Given the description of an element on the screen output the (x, y) to click on. 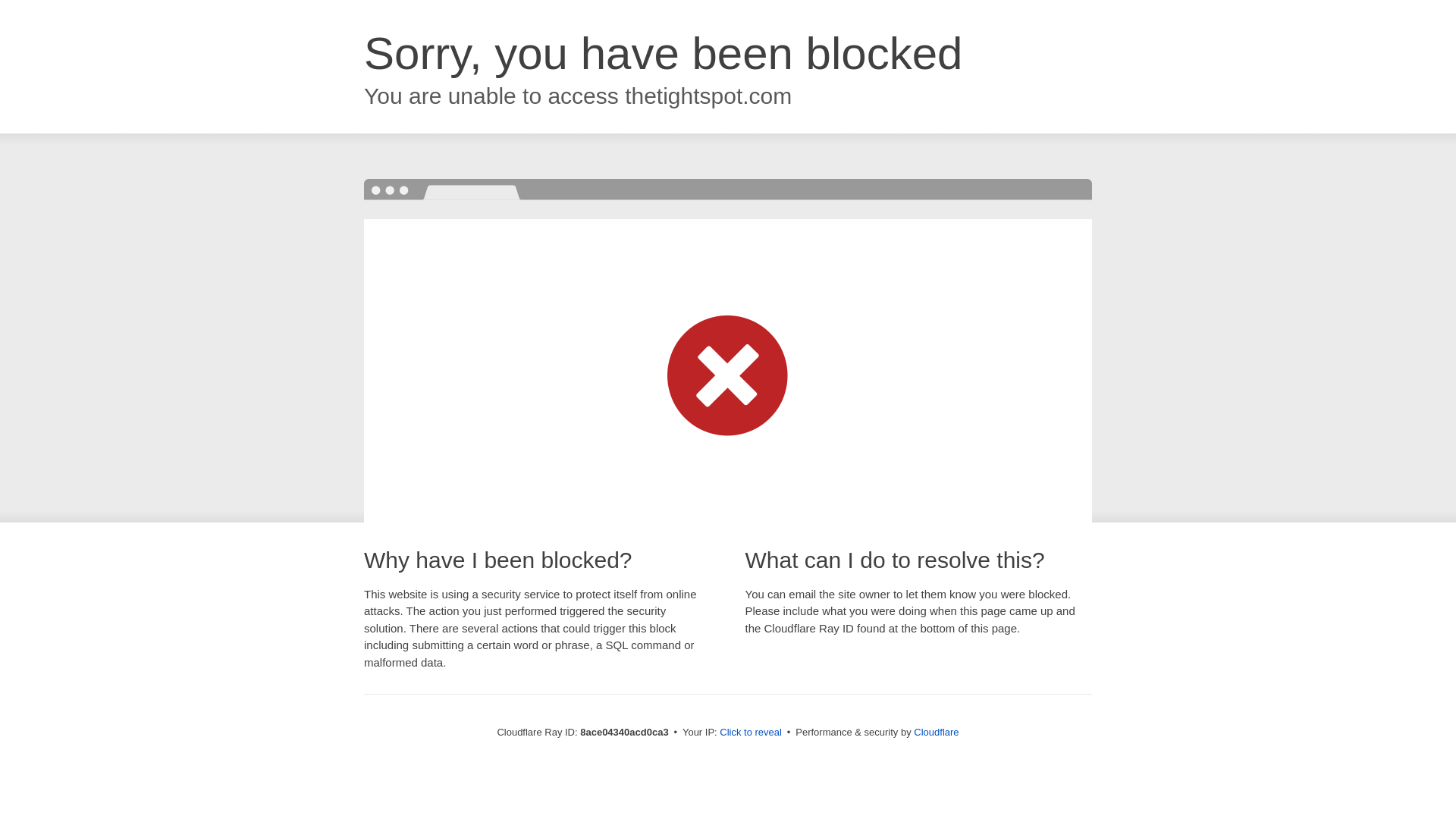
Cloudflare (936, 731)
Click to reveal (750, 732)
